Given the description of an element on the screen output the (x, y) to click on. 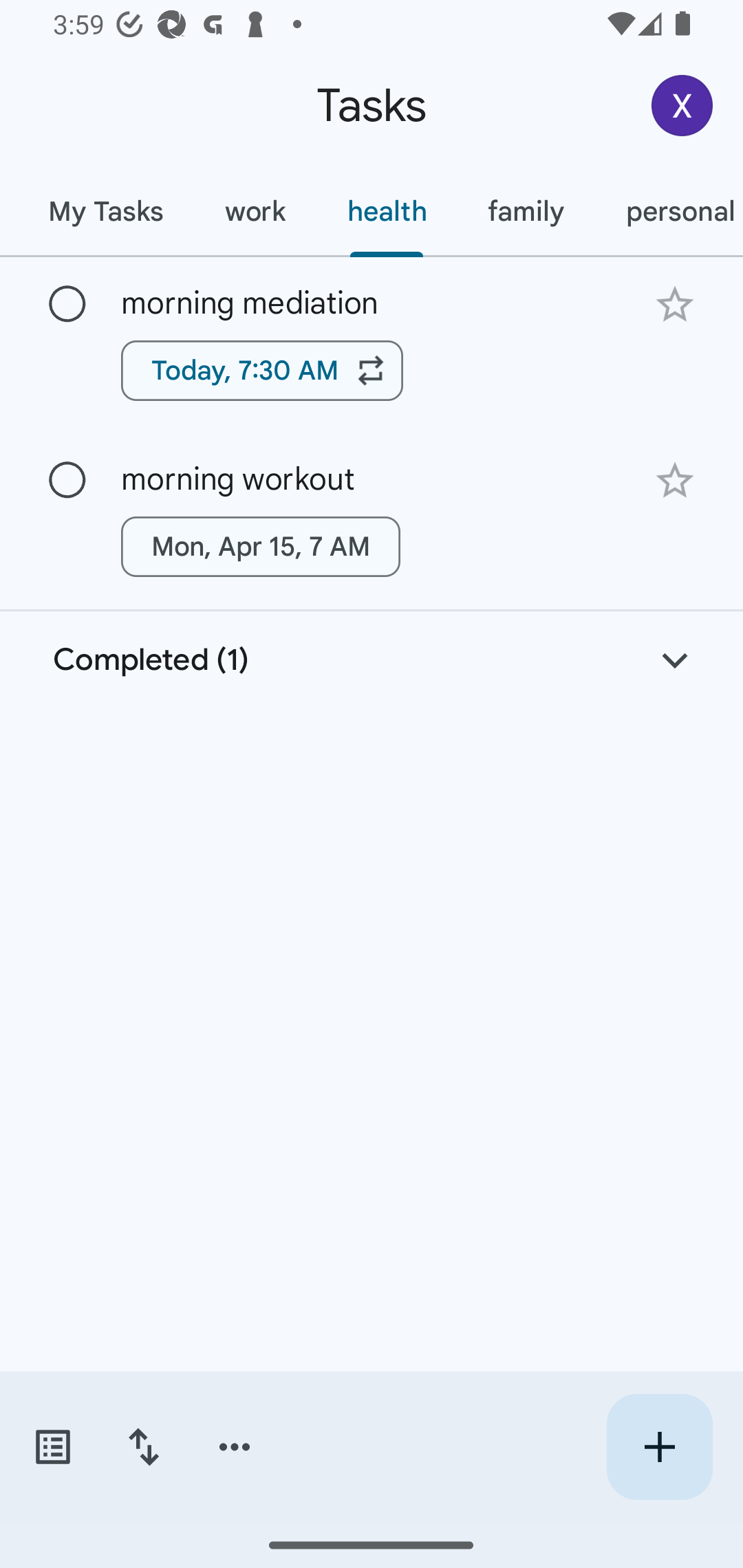
My Tasks (105, 211)
work (254, 211)
family (525, 211)
personal (669, 211)
Add star (674, 303)
Mark as complete (67, 304)
Today, 7:30 AM (262, 369)
Add star (674, 480)
Mark as complete (67, 480)
Mon, Apr 15, 7 AM (260, 546)
Completed (1) (371, 660)
Switch task lists (52, 1447)
Create new task (659, 1446)
Change sort order (143, 1446)
More options (234, 1446)
